Given the description of an element on the screen output the (x, y) to click on. 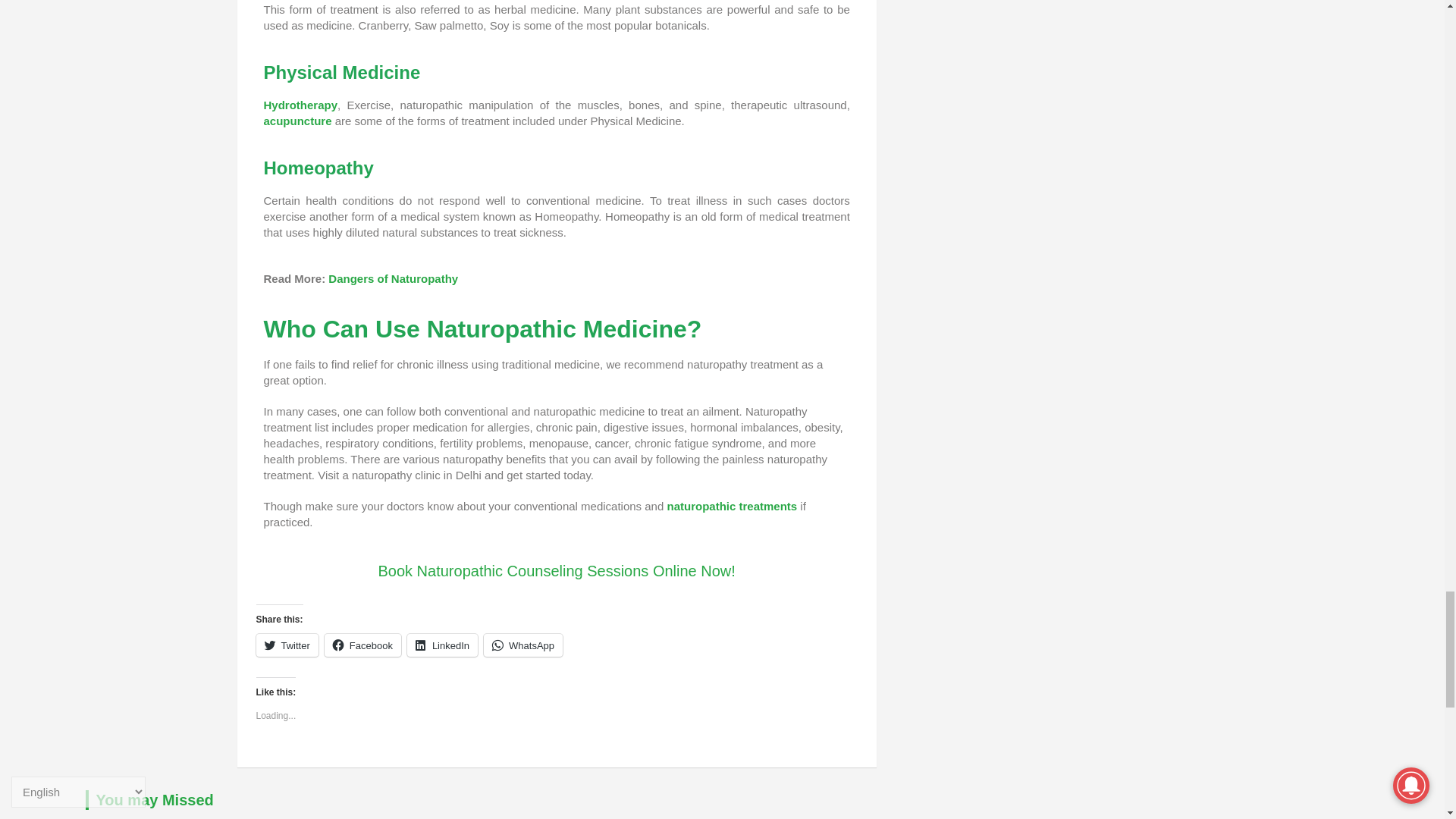
Click to share on Facebook (362, 644)
Click to share on LinkedIn (442, 644)
Click to share on WhatsApp (522, 644)
Click to share on Twitter (287, 644)
